Given the description of an element on the screen output the (x, y) to click on. 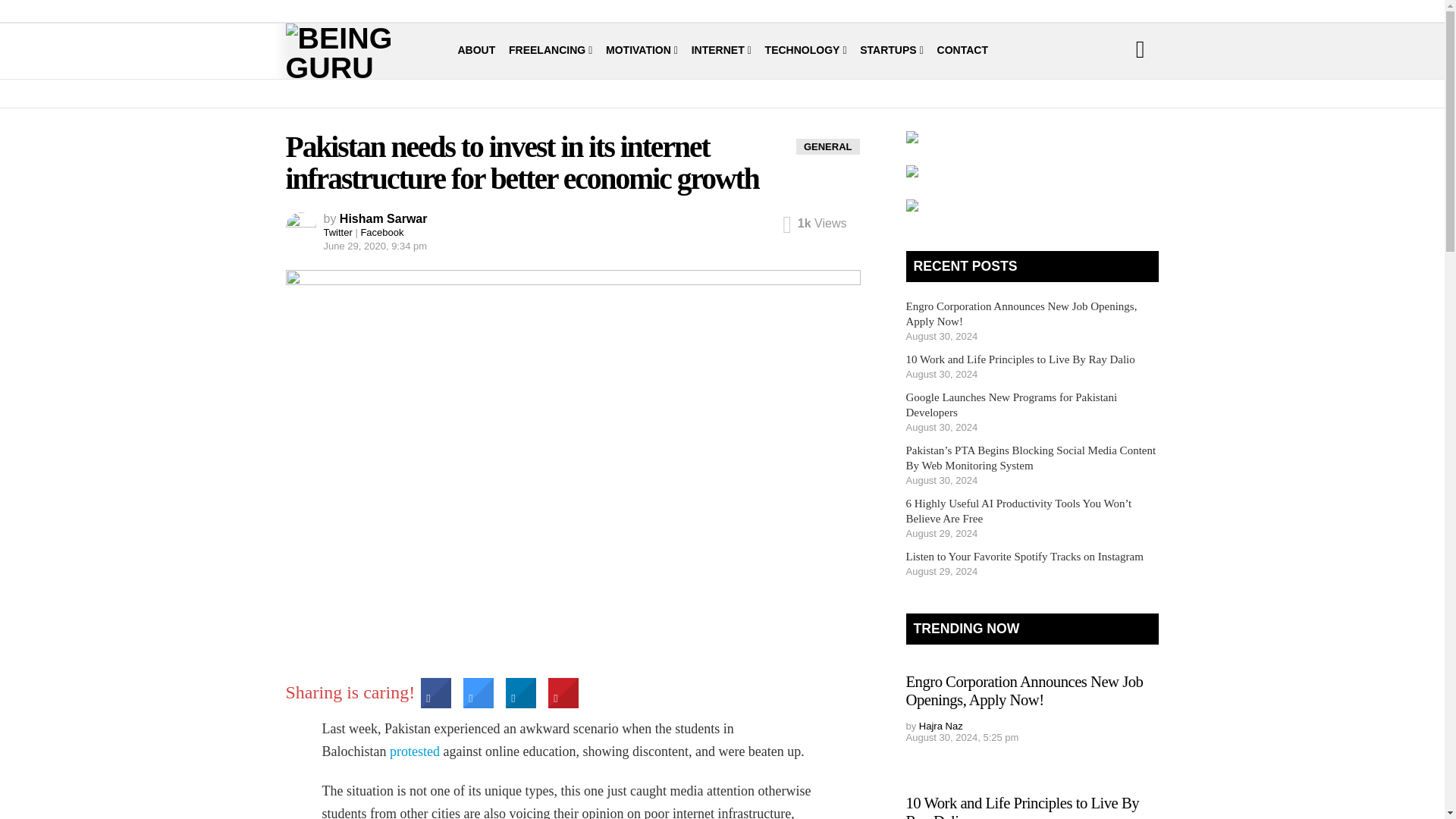
Posts by Hajra Naz (940, 726)
ABOUT (477, 49)
STARTUPS (891, 49)
Beaten for Demanding Internet Access (414, 751)
Posts by Hisham Sarwar (383, 218)
FREELANCING (550, 49)
INTERNET (721, 49)
TECHNOLOGY (806, 49)
MOTIVATION (641, 49)
